Given the description of an element on the screen output the (x, y) to click on. 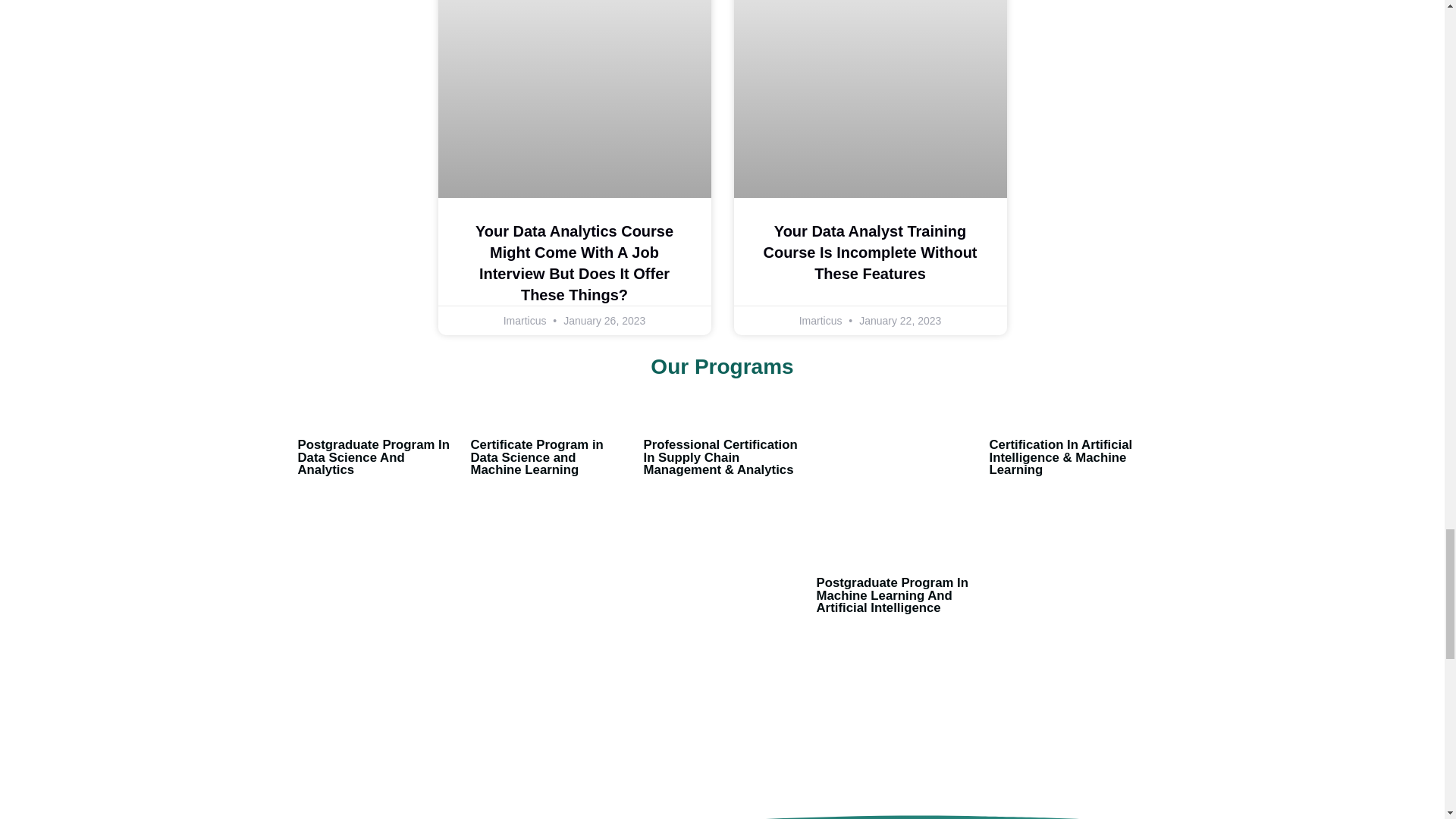
Certificate Program in Data Science and Machine Learning (536, 457)
Postgraduate Program In Data Science And Analytics (372, 457)
